Given the description of an element on the screen output the (x, y) to click on. 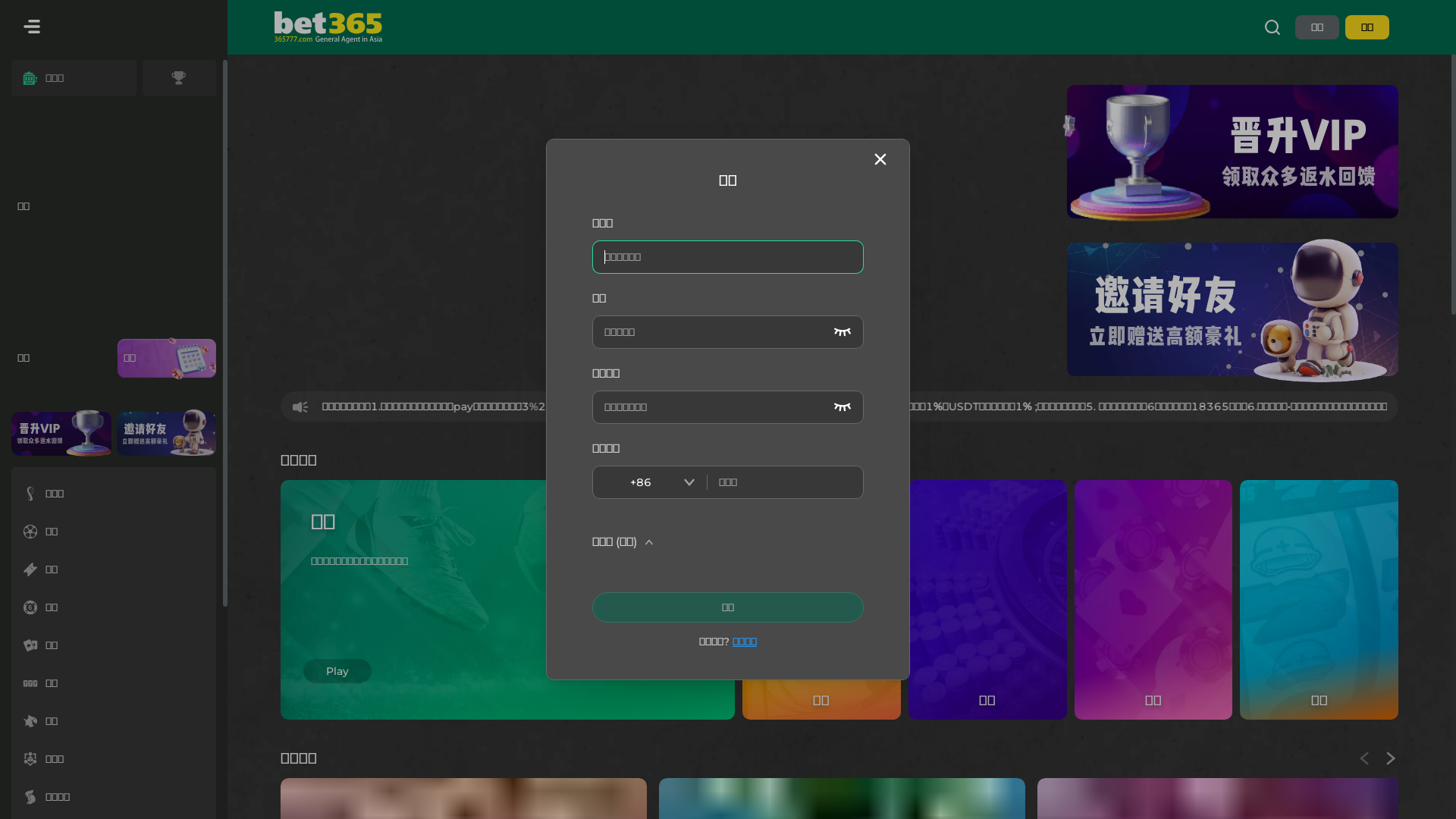
Play Element type: text (337, 649)
